Given the description of an element on the screen output the (x, y) to click on. 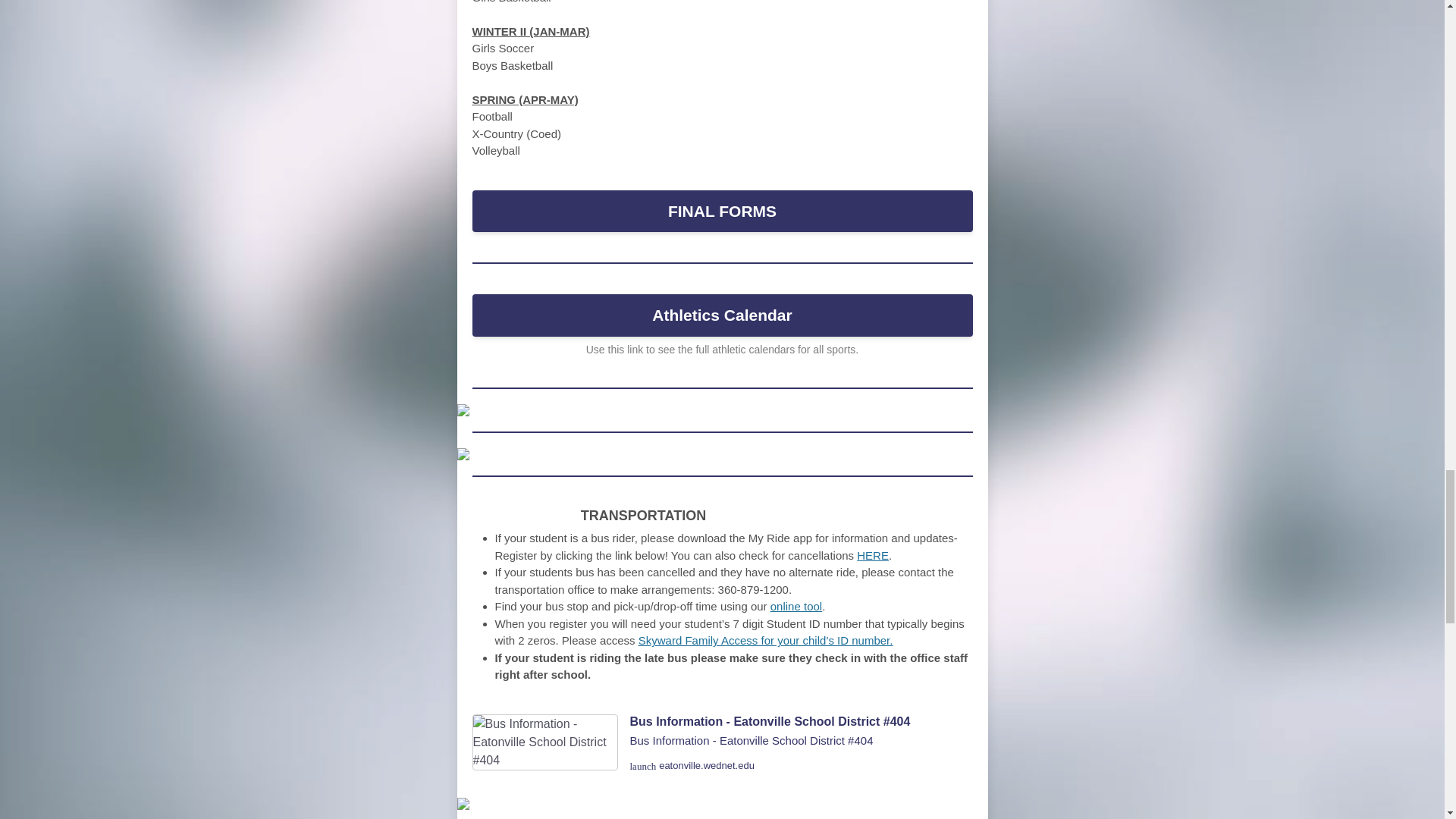
Athletics Calendar (721, 315)
online tool (796, 605)
HERE (872, 554)
FINAL FORMS (721, 211)
